Given the description of an element on the screen output the (x, y) to click on. 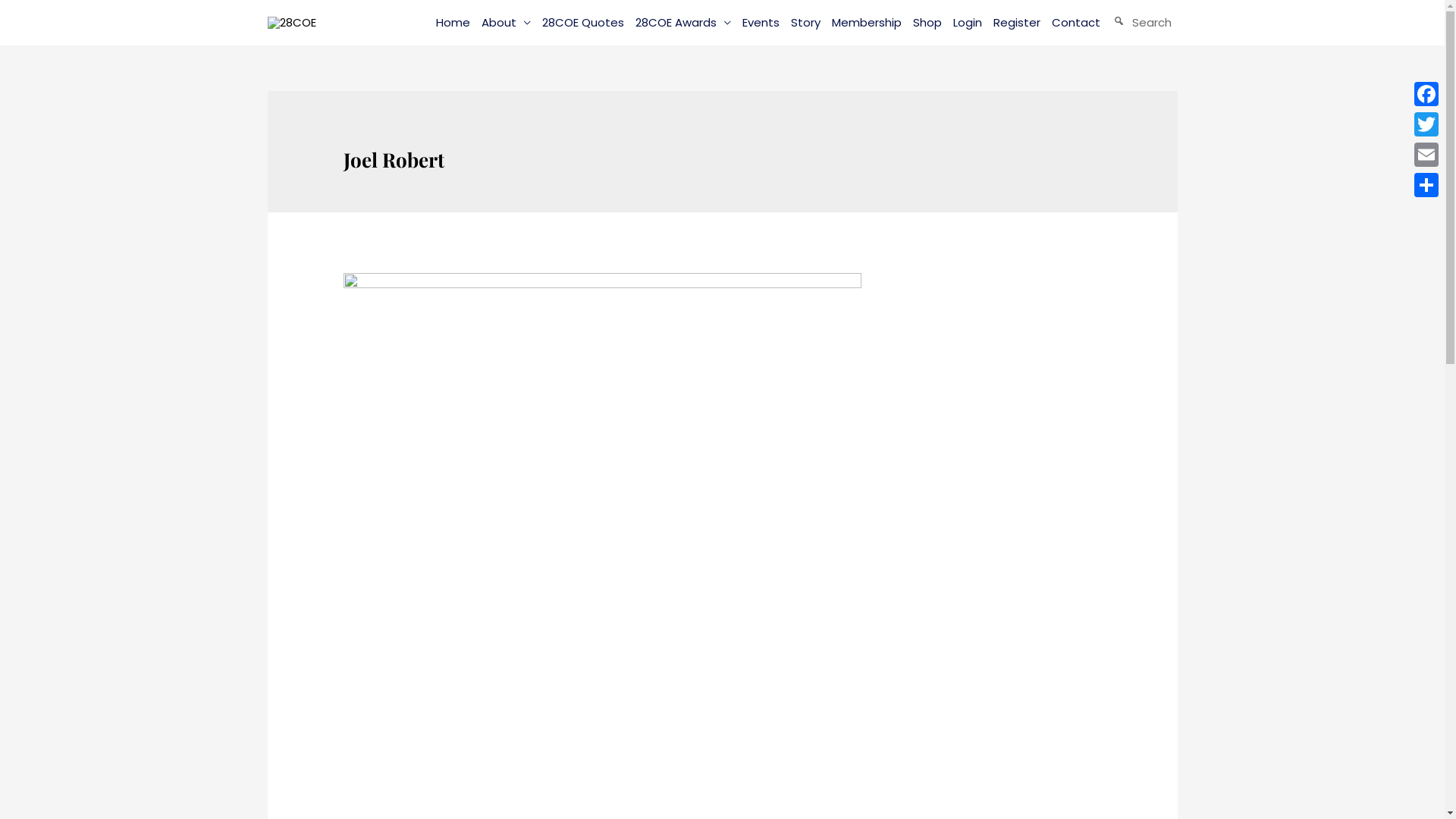
Login Element type: text (967, 22)
Shop Element type: text (926, 22)
Story Element type: text (804, 22)
Membership Element type: text (865, 22)
Contact Element type: text (1075, 22)
Home Element type: text (452, 22)
Twitter Element type: text (1426, 124)
28COE Quotes Element type: text (582, 22)
Email Element type: text (1426, 154)
Search Element type: text (1141, 22)
Events Element type: text (760, 22)
Facebook Element type: text (1426, 93)
Share Element type: text (1426, 184)
28COE Awards Element type: text (682, 22)
Register Element type: text (1016, 22)
About Element type: text (505, 22)
